Given the description of an element on the screen output the (x, y) to click on. 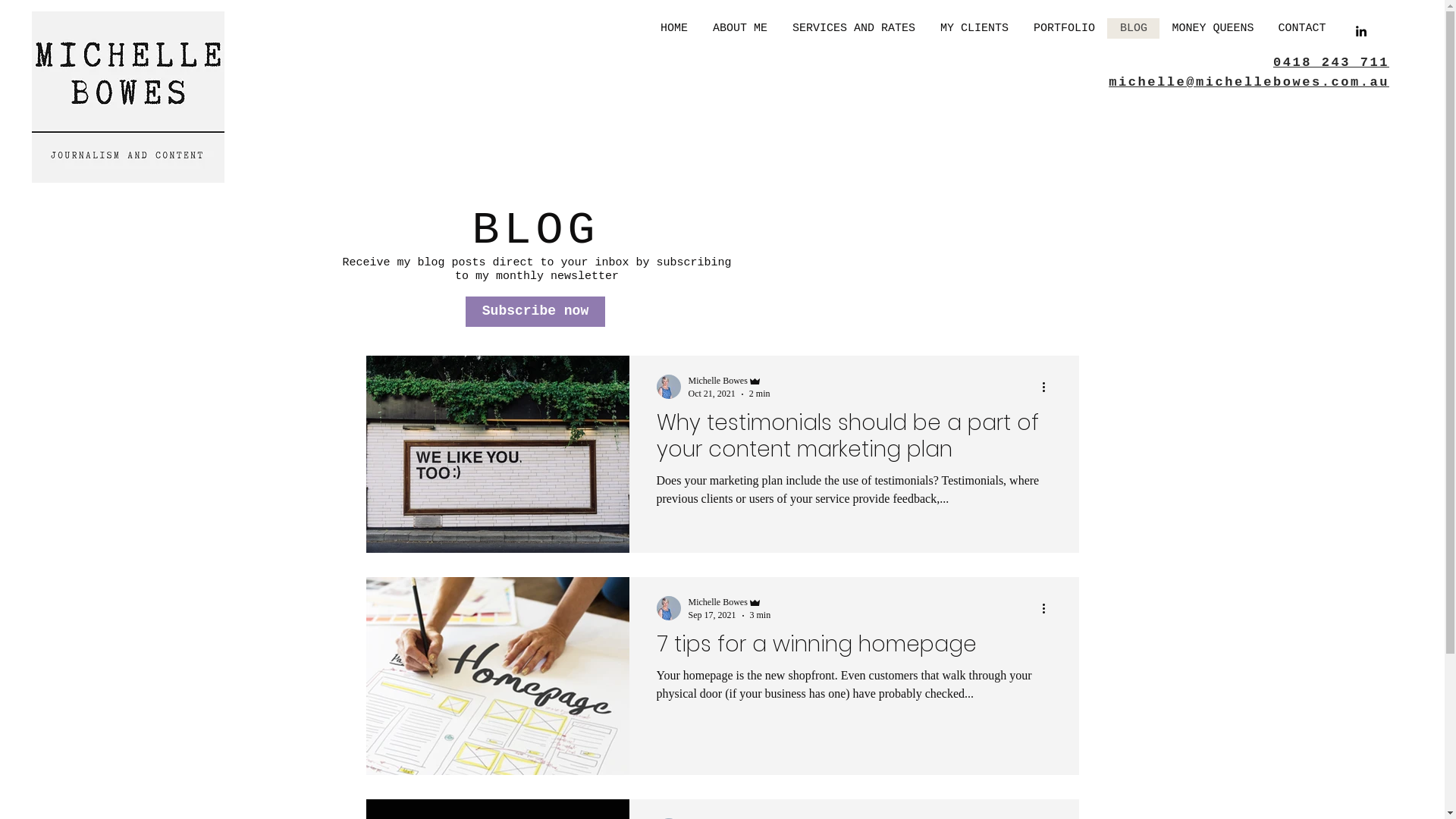
0418 243 711 Element type: text (1331, 62)
MY CLIENTS Element type: text (973, 28)
Michelle Bowes Element type: text (729, 602)
michelle@michellebowes.com.au Element type: text (1248, 82)
CONTACT Element type: text (1301, 28)
ABOUT ME Element type: text (739, 28)
Michelle Bowes Element type: text (729, 380)
PORTFOLIO Element type: text (1063, 28)
BLOG Element type: text (1133, 28)
MONEY QUEENS Element type: text (1212, 28)
HOME Element type: text (673, 28)
Subscribe now Element type: text (535, 311)
7 tips for a winning homepage Element type: text (853, 648)
SERVICES AND RATES Element type: text (853, 28)
